Given the description of an element on the screen output the (x, y) to click on. 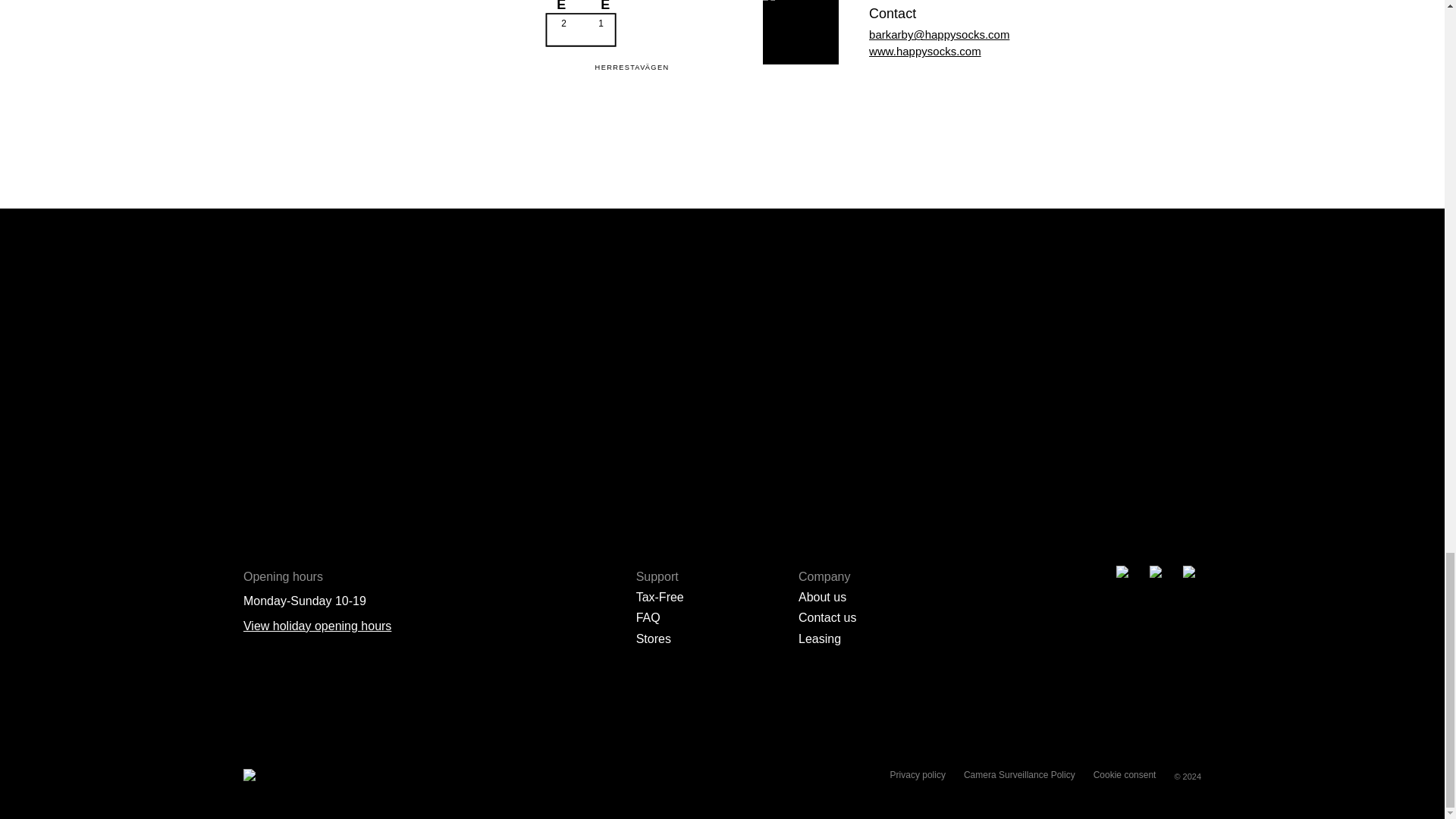
Google Maps (941, 133)
FAQ (648, 617)
Tax-Free (660, 596)
www.happysocks.com (925, 51)
Instagram (911, 134)
Facebook (880, 134)
View holiday opening hours (317, 625)
